Given the description of an element on the screen output the (x, y) to click on. 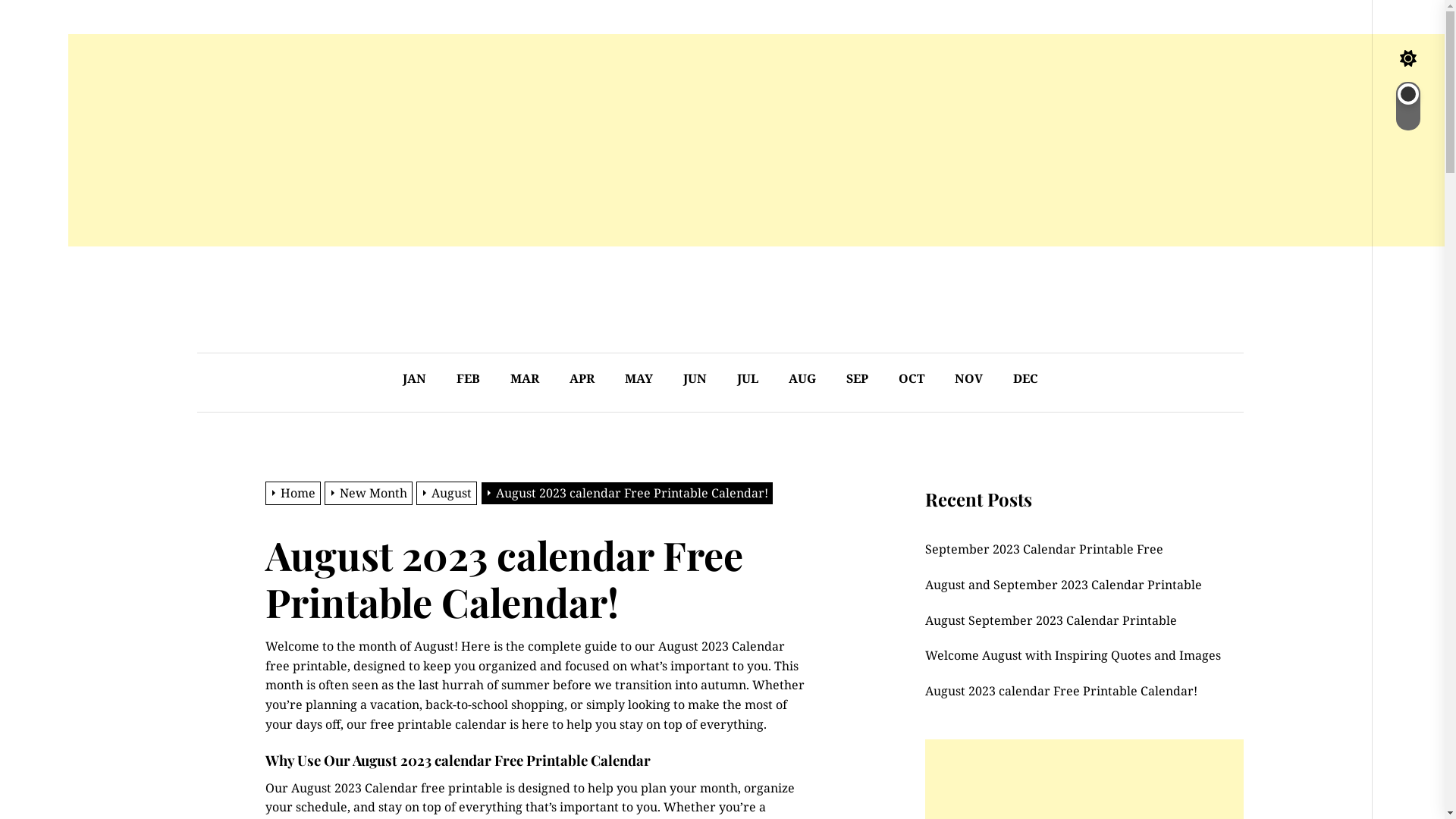
August 2023 calendar Free Printable Calendar! Element type: text (1063, 691)
JUN Element type: text (694, 379)
APR Element type: text (581, 379)
Home Element type: text (294, 492)
SEP Element type: text (857, 379)
August Element type: text (448, 492)
August 2023 calendar Free Printable Calendar! Element type: text (628, 492)
August and September 2023 Calendar Printable Element type: text (1066, 585)
DEC Element type: text (1025, 379)
New Month Element type: text (370, 492)
Skip to the content Element type: text (67, 245)
FEB Element type: text (468, 379)
September 2023 Calendar Printable Free Element type: text (1046, 549)
MAR Element type: text (524, 379)
OCT Element type: text (911, 379)
Advertisement Element type: hover (523, 140)
JUL Element type: text (747, 379)
MAY Element type: text (638, 379)
JAN Element type: text (414, 379)
Welcome August with Inspiring Quotes and Images Element type: text (1075, 655)
AUG Element type: text (801, 379)
August September 2023 Calendar Printable Element type: text (1053, 620)
NOV Element type: text (968, 379)
